Given the description of an element on the screen output the (x, y) to click on. 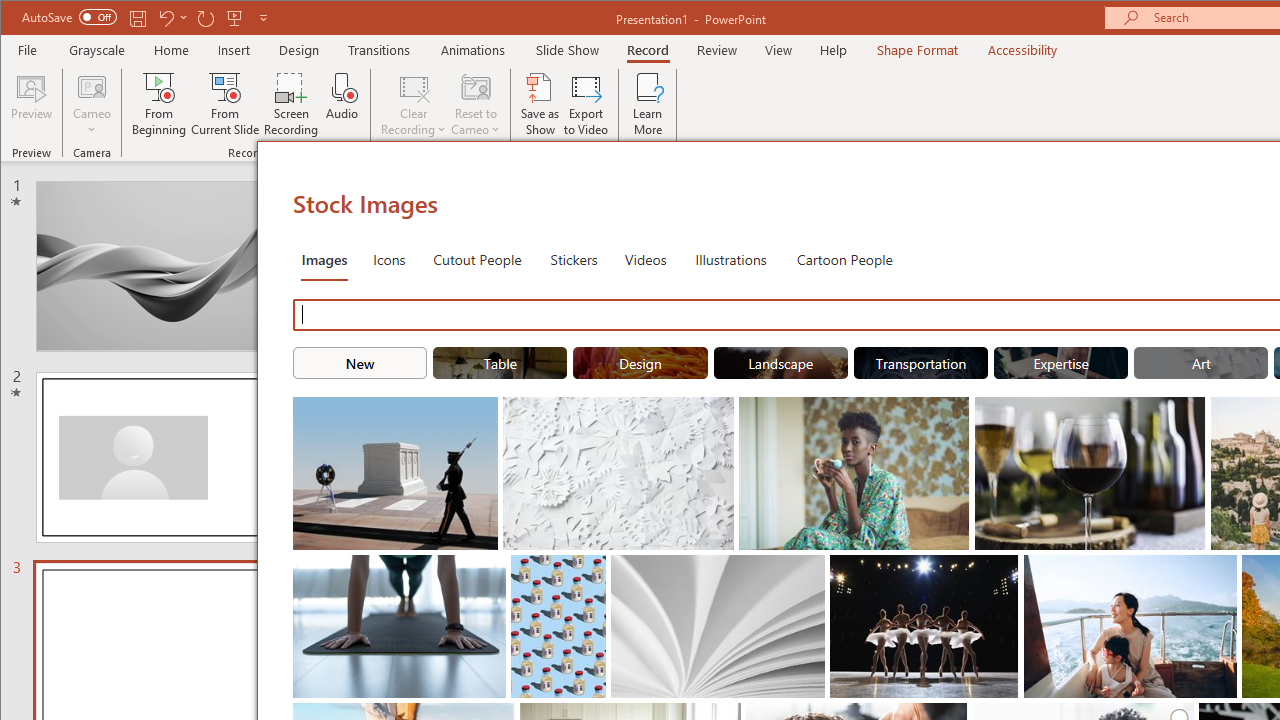
Screen Recording (291, 104)
Audio (342, 104)
"Expertise" Stock Images. (1060, 362)
Learn More (648, 104)
Reset to Cameo (476, 104)
Cartoon People (844, 258)
